Given the description of an element on the screen output the (x, y) to click on. 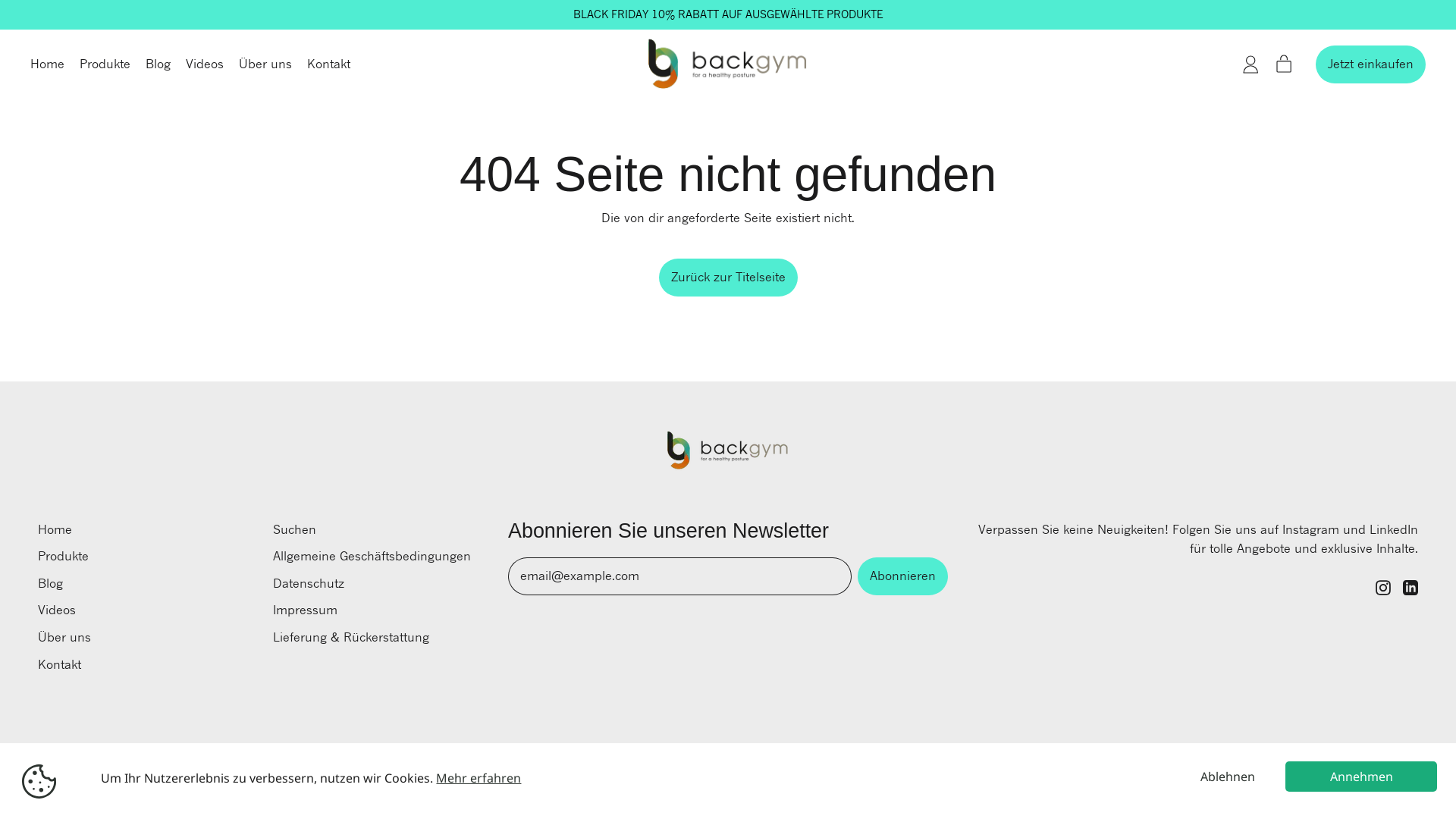
Datenschutz Element type: text (308, 582)
LinkedIn Element type: text (1410, 590)
Einkaufswagen
Artikel Element type: text (1283, 64)
Produkte Element type: text (105, 64)
Home Element type: text (47, 64)
Einloggen Element type: text (1250, 64)
Blog Element type: text (158, 64)
Suchen Element type: text (294, 528)
Kontakt Element type: text (59, 663)
Home Element type: text (54, 528)
Backgym Element type: text (105, 760)
Produkte Element type: text (62, 555)
Videos Element type: text (56, 609)
Impressum Element type: text (305, 609)
Videos Element type: text (204, 64)
Blog Element type: text (49, 582)
Kontakt Element type: text (328, 64)
Abonnieren Element type: text (902, 576)
Instagram Element type: text (1382, 590)
Jetzt einkaufen Element type: text (1370, 64)
Mehr erfahren Element type: text (478, 777)
